Given the description of an element on the screen output the (x, y) to click on. 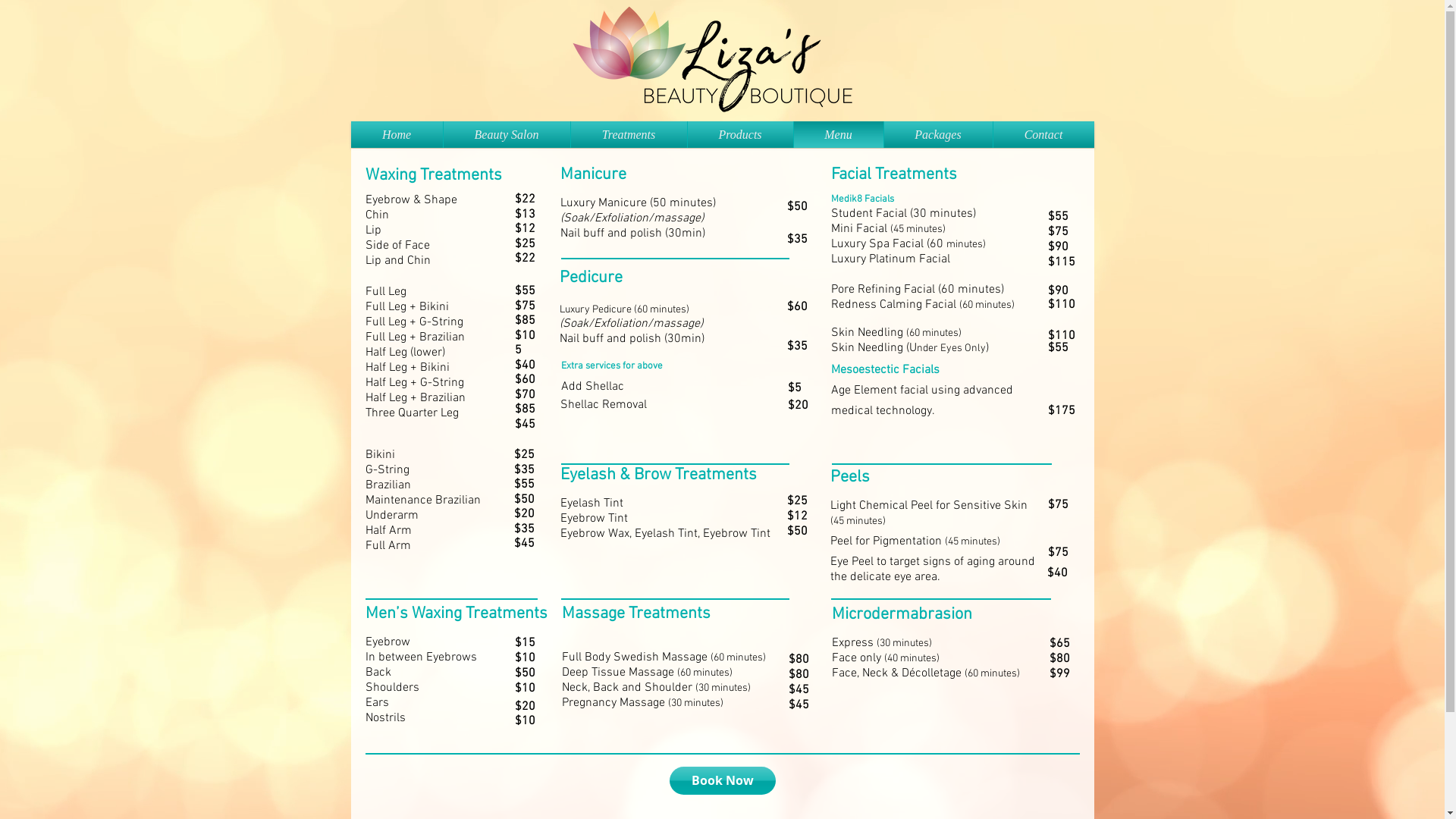
Contact Element type: text (1043, 134)
Treatments Element type: text (628, 134)
Beauty Salon Element type: text (505, 134)
Menu Element type: text (837, 134)
Home Element type: text (396, 134)
Book Now Element type: text (721, 780)
Packages Element type: text (938, 134)
Products Element type: text (739, 134)
